Given the description of an element on the screen output the (x, y) to click on. 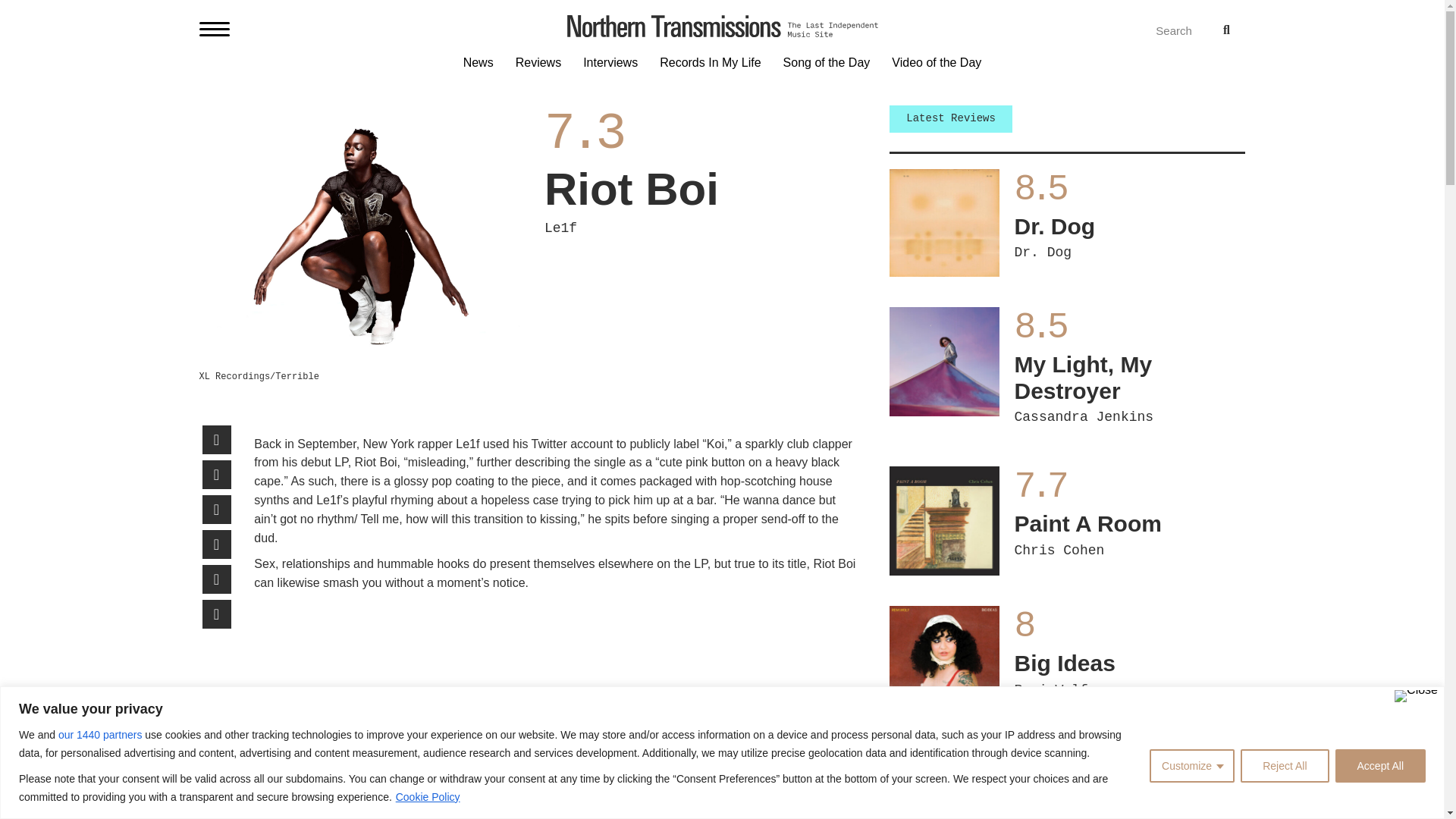
Accept All (1380, 765)
Reject All (1283, 765)
Search (1148, 30)
Riot Boi by Le1f review by  Northern Transmissions (363, 234)
our 1440 partners (100, 733)
Advertisement (556, 676)
Cookie Policy (427, 796)
Customize (1192, 765)
